Given the description of an element on the screen output the (x, y) to click on. 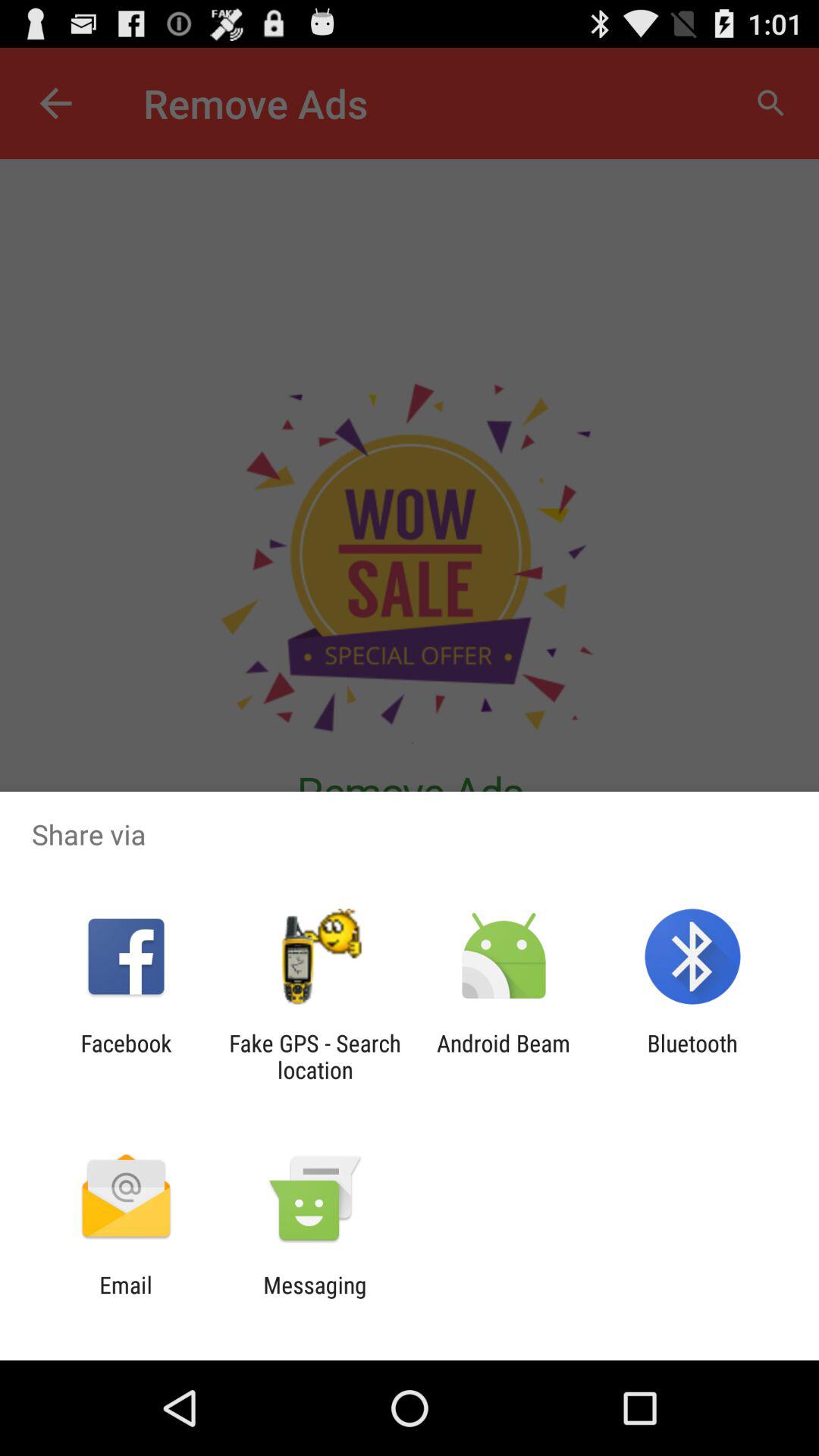
turn off messaging (314, 1298)
